Given the description of an element on the screen output the (x, y) to click on. 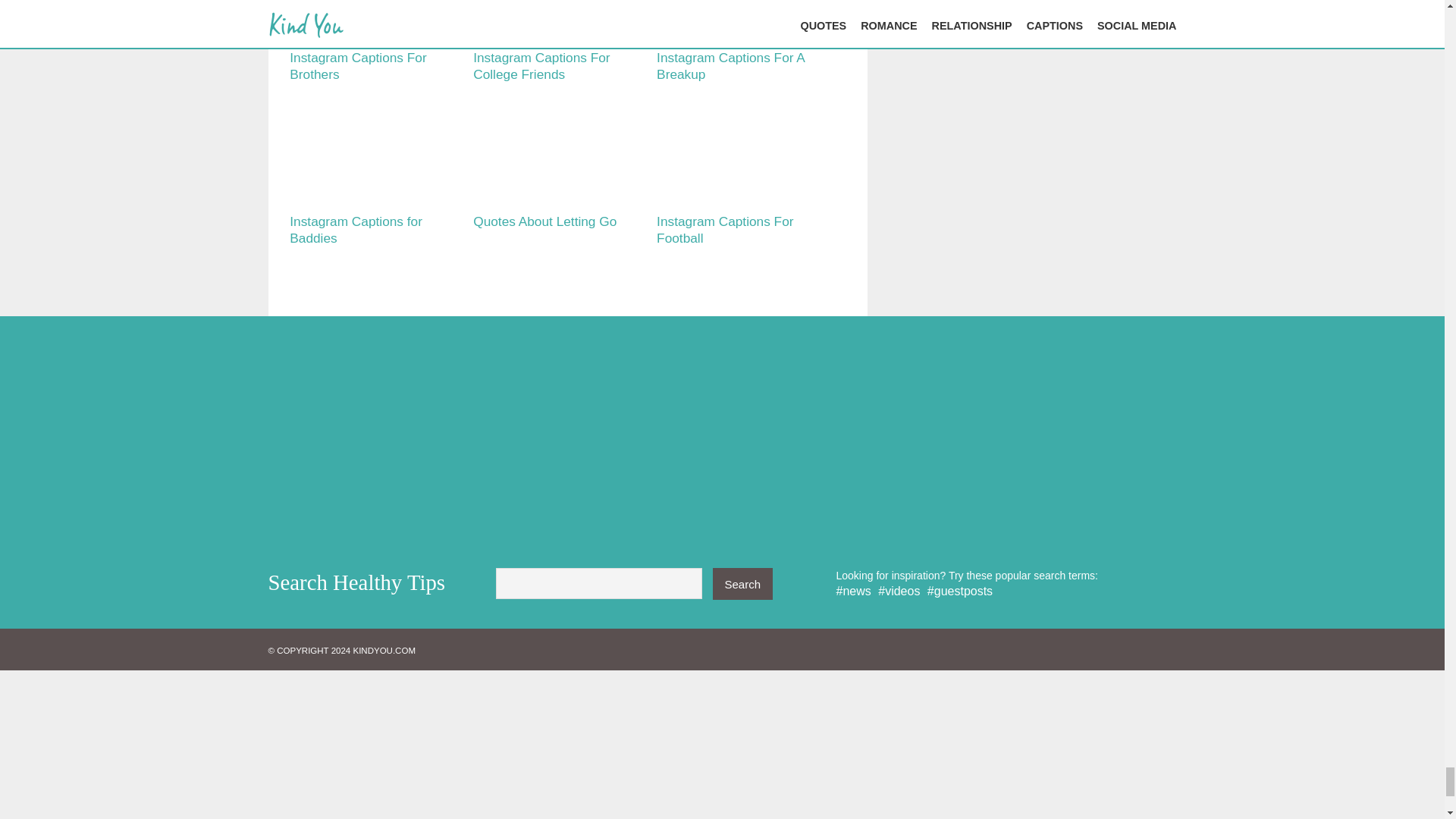
Quotes About Letting Go (544, 221)
videos (898, 590)
Search (743, 583)
logged in (392, 459)
Instagram Captions For College Friends (541, 65)
Instagram Captions For Football (724, 229)
guestposts (959, 590)
Instagram Captions for Baddies (355, 229)
Search (743, 583)
Instagram Captions For A Breakup (730, 65)
Instagram Captions For Brothers (357, 65)
news (852, 590)
